Given the description of an element on the screen output the (x, y) to click on. 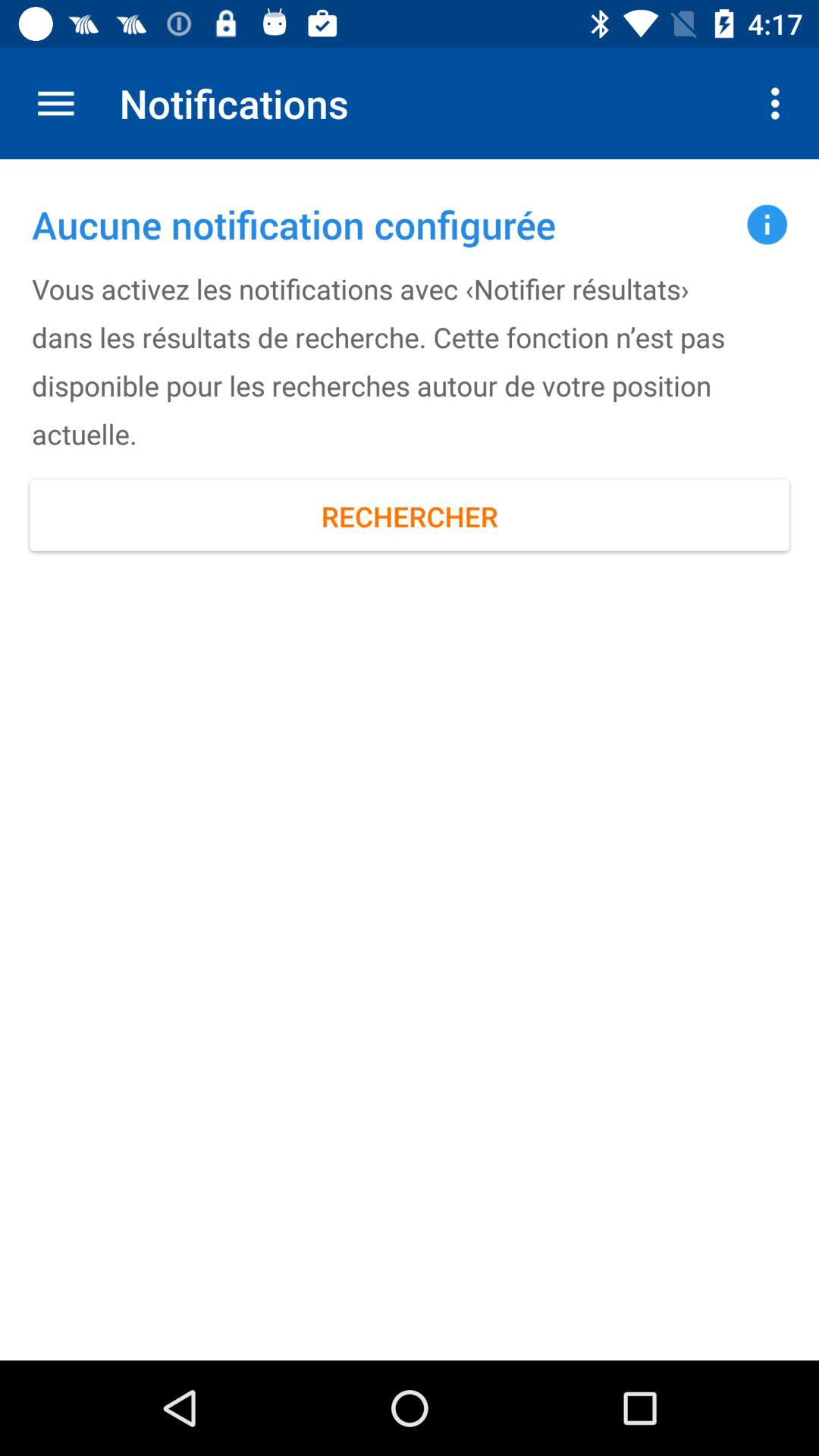
click item to the right of notifications (779, 103)
